Given the description of an element on the screen output the (x, y) to click on. 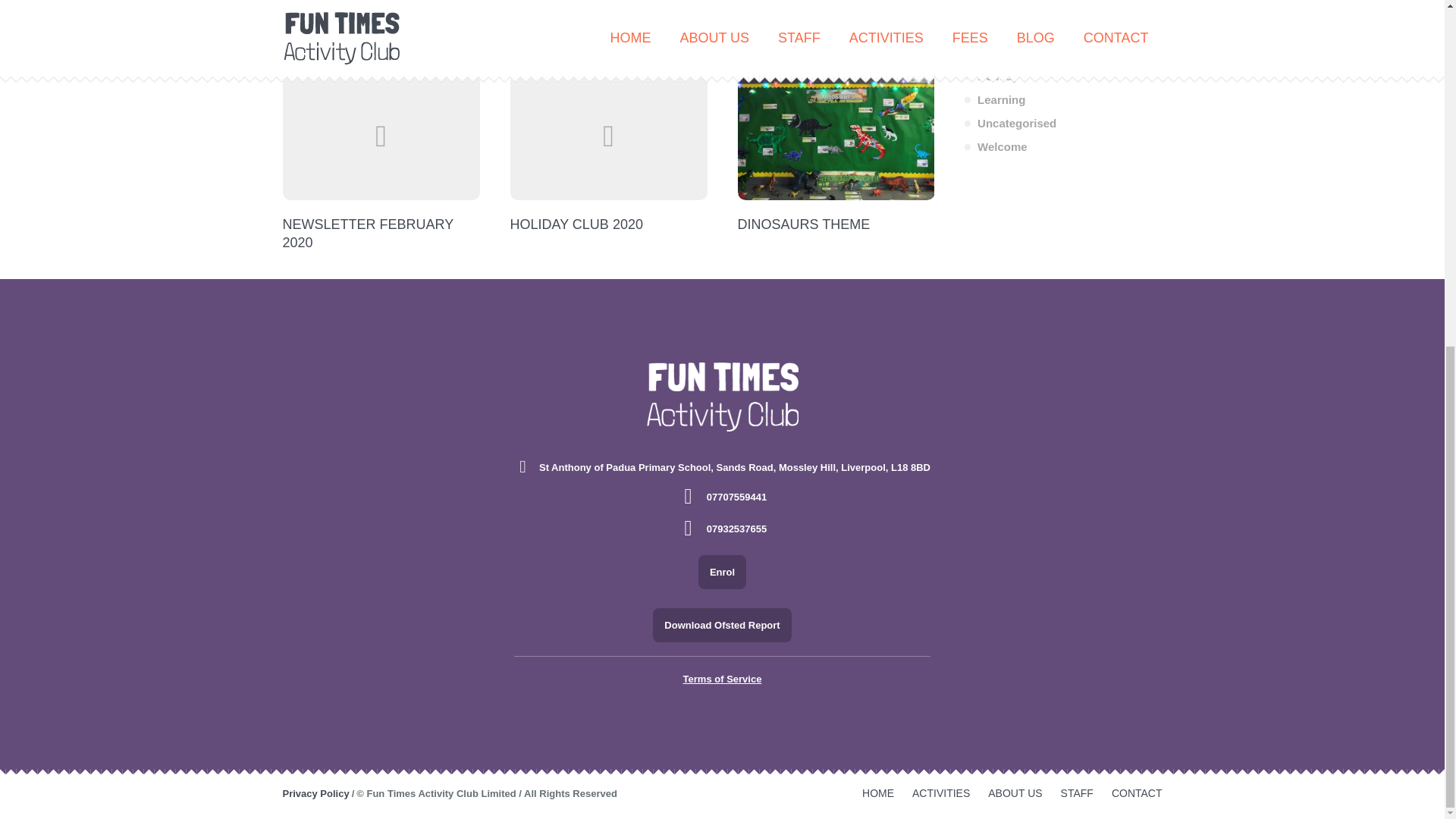
Creativity (996, 29)
HOLIDAY CLUB 2020 (575, 224)
Holiday Club 2020 (607, 135)
Newsletter  February 2020 (380, 135)
Food (984, 51)
Dinosaurs Theme (835, 135)
Company (996, 6)
DINOSAURS THEME (802, 224)
Welcome (995, 146)
Uncategorised (1010, 123)
NEWSLETTER FEBRUARY 2020 (367, 233)
Fun Times Activity Club (721, 396)
Learning (994, 99)
Holiday (990, 75)
